Given the description of an element on the screen output the (x, y) to click on. 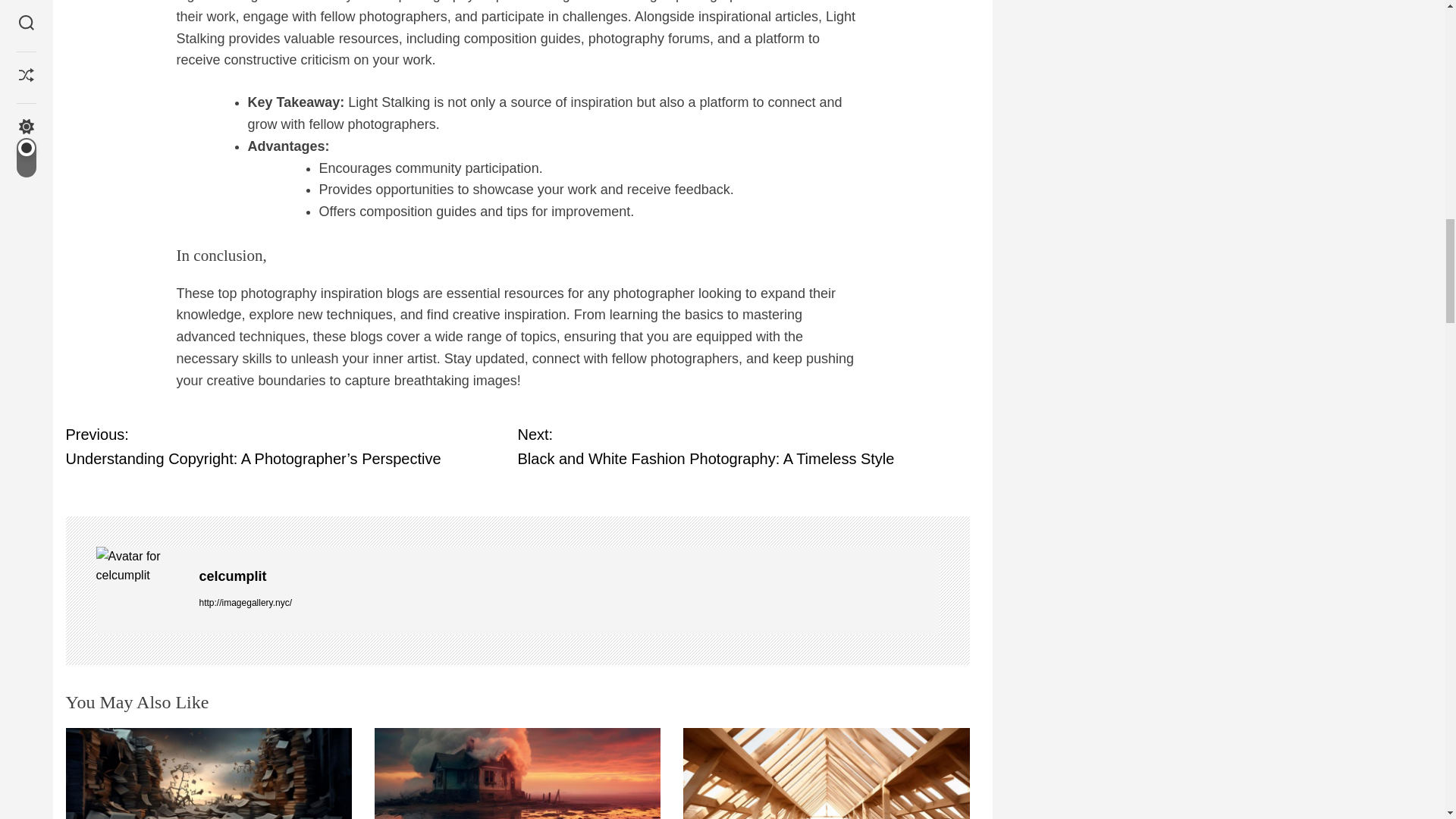
celcumplit (568, 576)
celcumplit (139, 566)
celcumplit (742, 446)
